Given the description of an element on the screen output the (x, y) to click on. 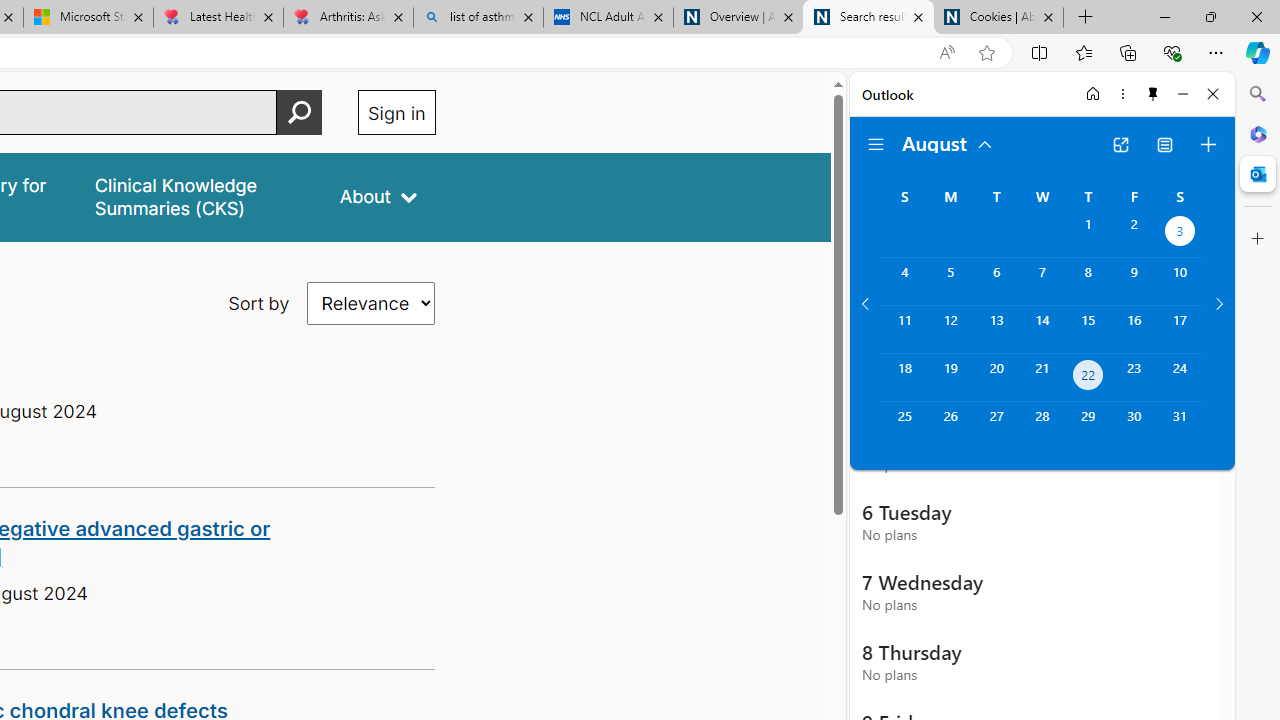
Wednesday, August 21, 2024.  (1042, 377)
